Given the description of an element on the screen output the (x, y) to click on. 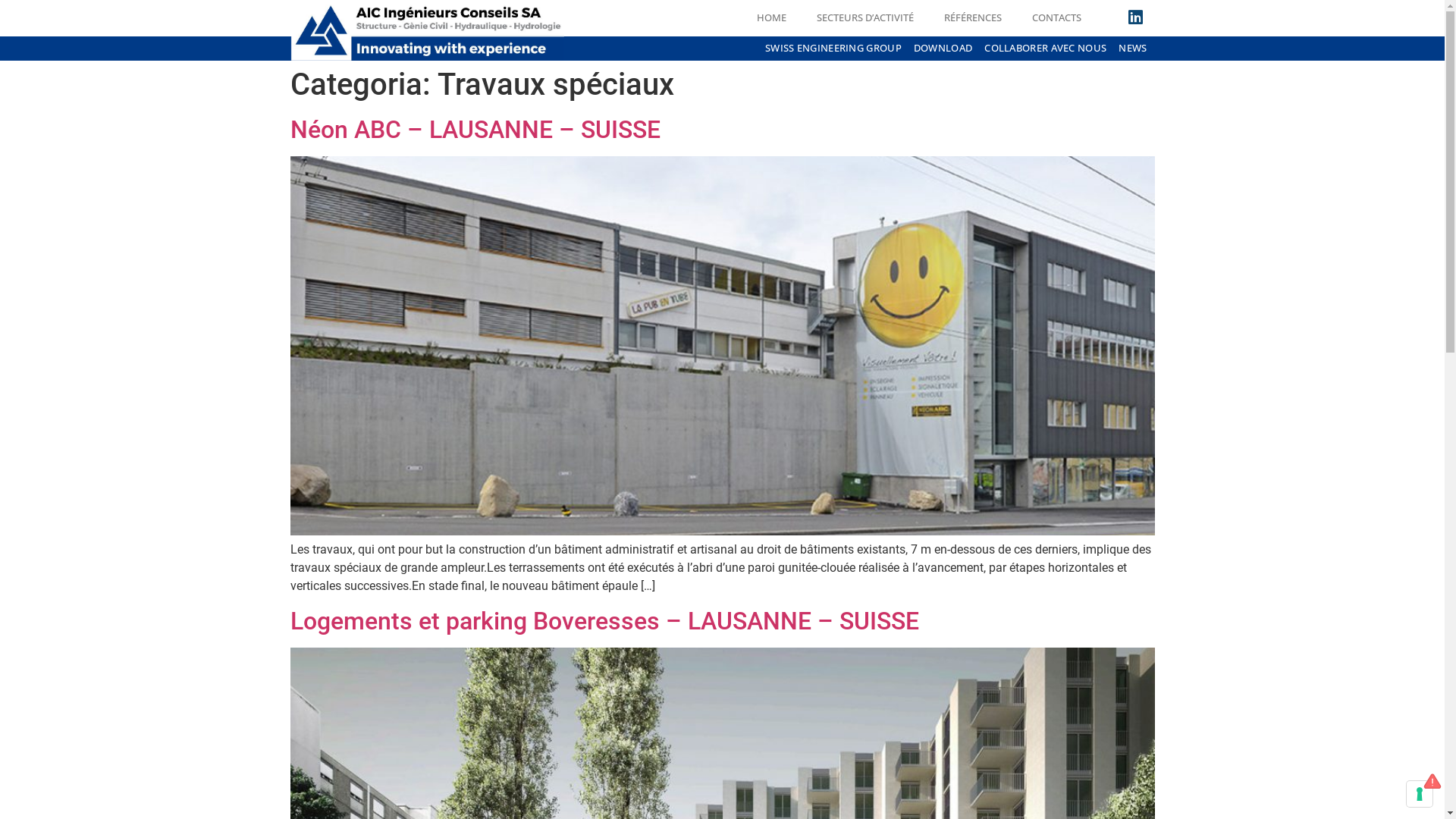
SWISS ENGINEERING GROUP Element type: text (833, 48)
COLLABORER AVEC NOUS Element type: text (1045, 48)
DOWNLOAD Element type: text (942, 48)
NEWS Element type: text (1132, 48)
HOME Element type: text (771, 17)
CONTACTS Element type: text (1056, 17)
AICLOGO Element type: hover (427, 30)
